Given the description of an element on the screen output the (x, y) to click on. 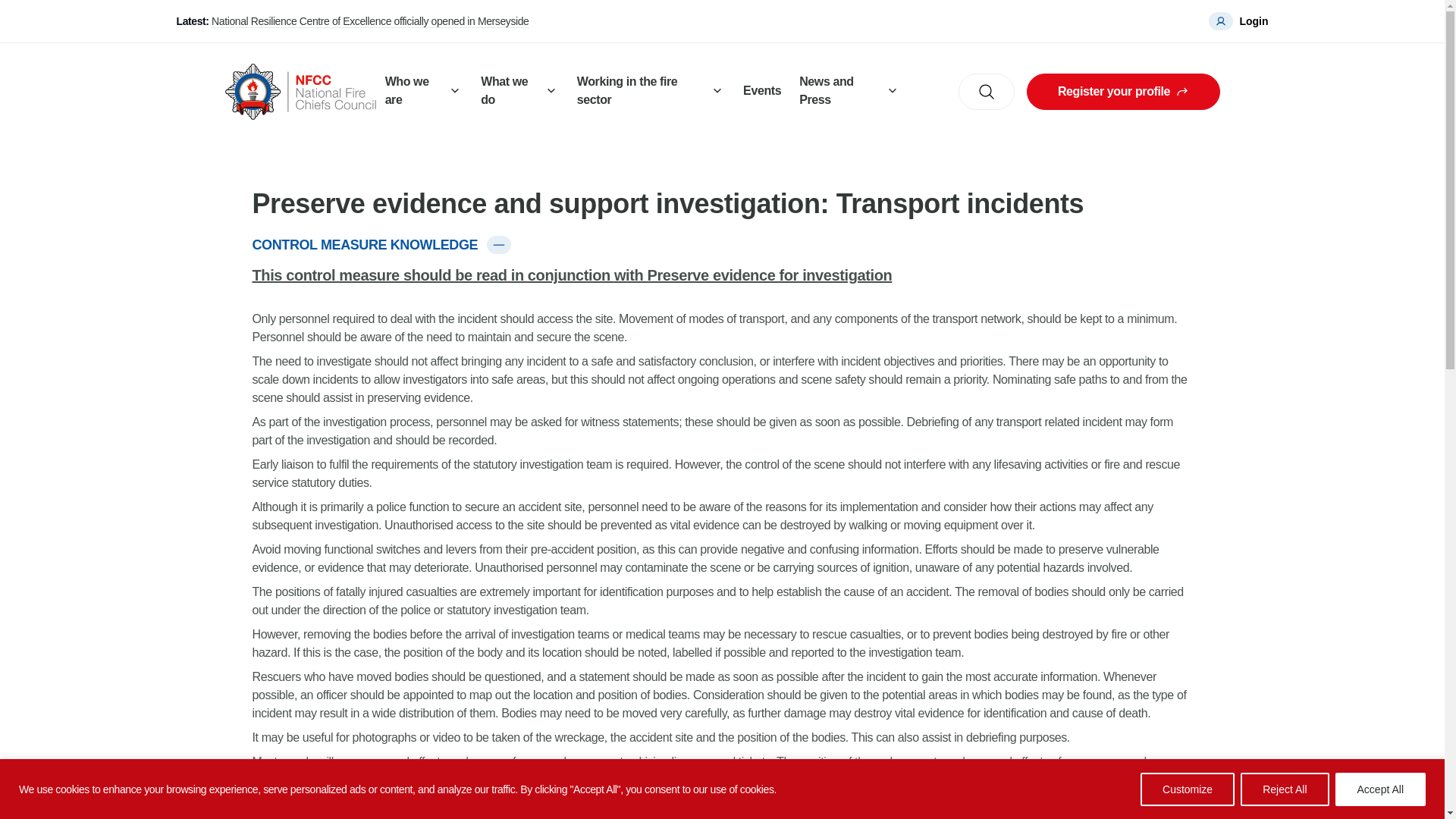
Login (1238, 21)
Reject All (1283, 788)
Accept All (1380, 788)
Login (1238, 21)
Customize (1187, 788)
Who we are (423, 91)
Go to the homepage (299, 90)
